Given the description of an element on the screen output the (x, y) to click on. 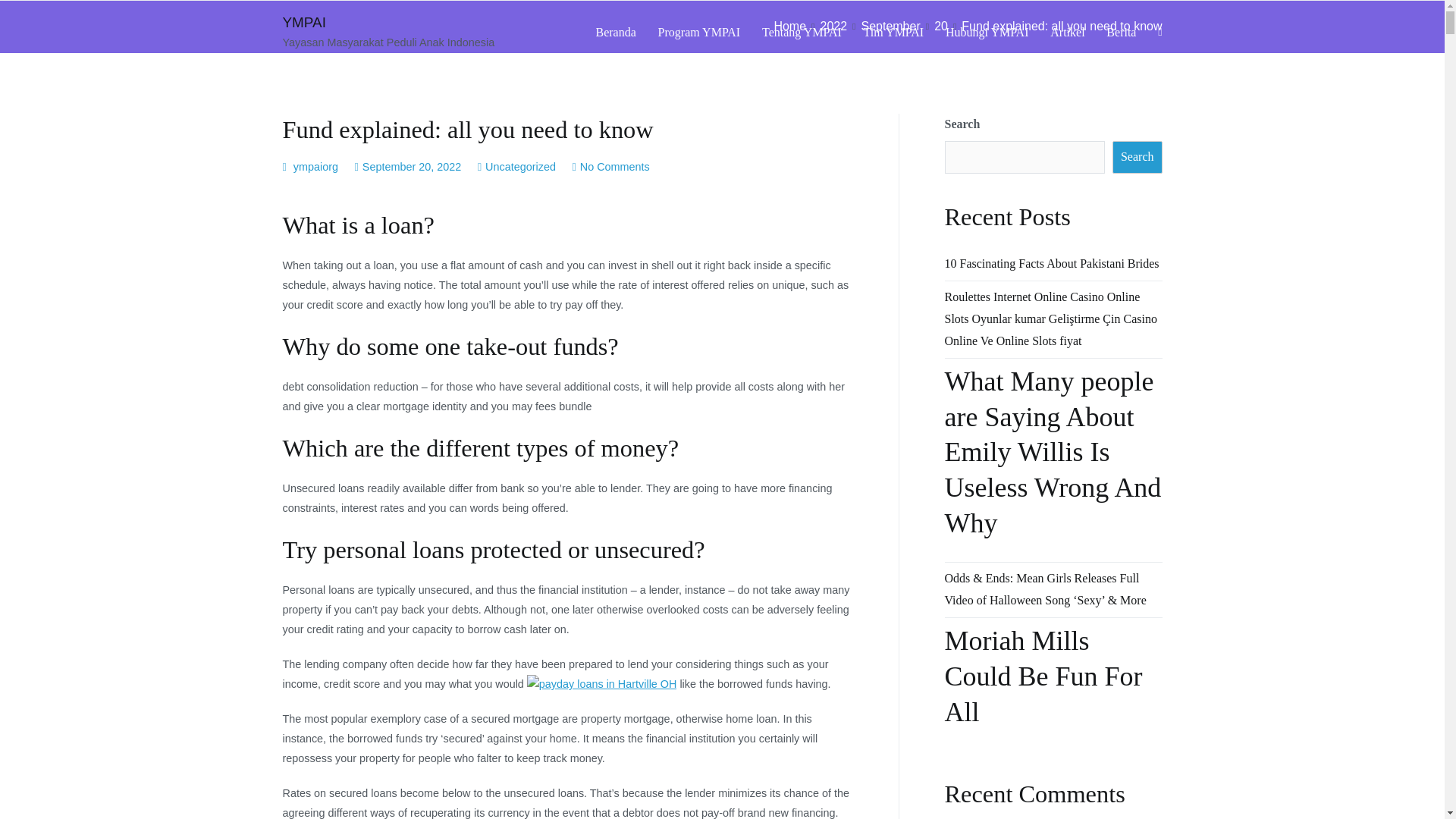
September (890, 25)
Tentang YMPAI (801, 33)
Artikel (1066, 33)
2022 (833, 25)
Uncategorized (520, 166)
Program YMPAI (699, 33)
September 20, 2022 (411, 166)
Search (1136, 156)
Beranda (615, 33)
Hubungi YMPAI (986, 33)
20 (940, 25)
10 Fascinating Facts About Pakistani Brides (1051, 264)
YMPAI (303, 22)
Tim YMPAI (893, 33)
